Given the description of an element on the screen output the (x, y) to click on. 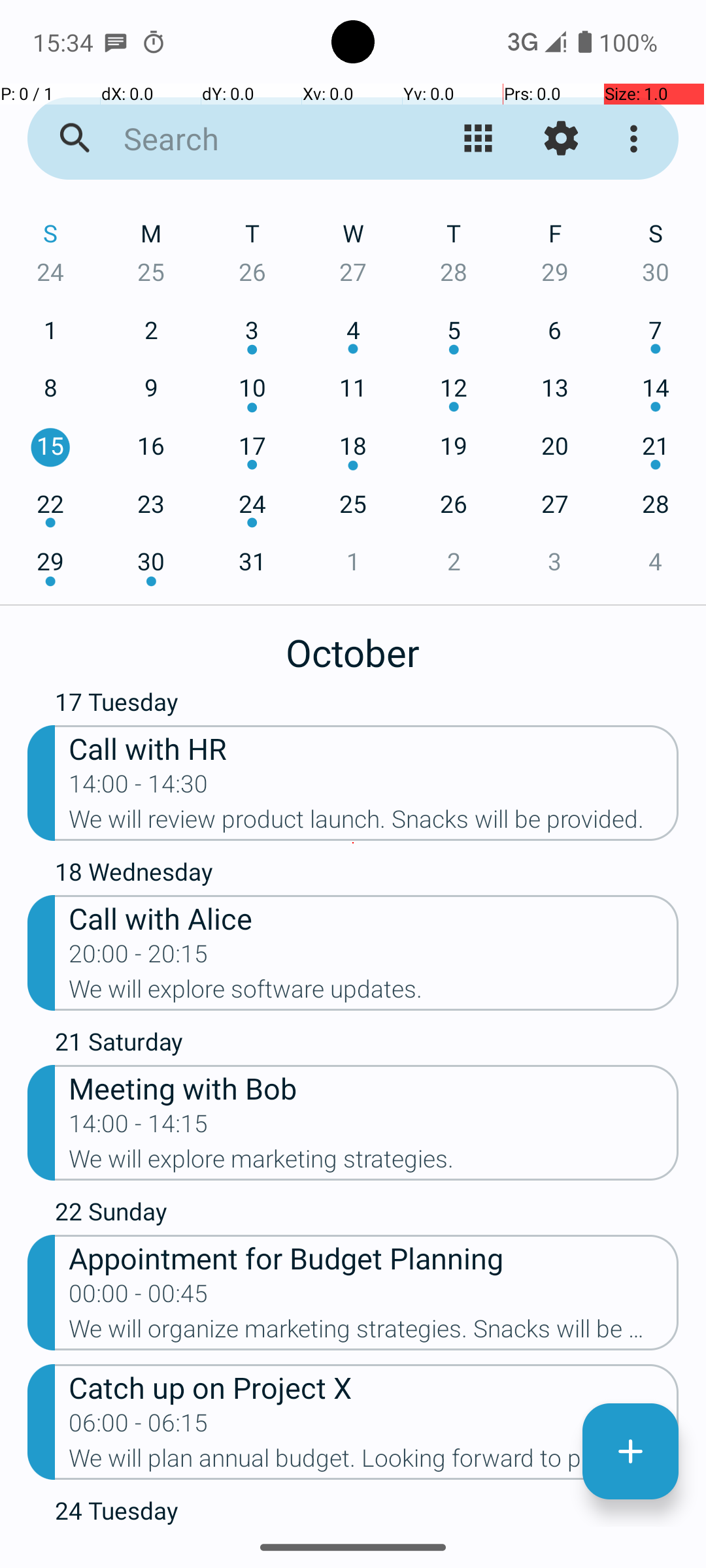
17 Tuesday Element type: android.widget.TextView (366, 704)
18 Wednesday Element type: android.widget.TextView (366, 874)
21 Saturday Element type: android.widget.TextView (366, 1044)
22 Sunday Element type: android.widget.TextView (366, 1214)
24 Tuesday Element type: android.widget.TextView (366, 1509)
Call with HR Element type: android.widget.TextView (373, 747)
14:00 - 14:30 Element type: android.widget.TextView (137, 787)
We will review product launch. Snacks will be provided. Element type: android.widget.TextView (373, 822)
Call with Alice Element type: android.widget.TextView (373, 917)
20:00 - 20:15 Element type: android.widget.TextView (137, 957)
We will explore software updates. Element type: android.widget.TextView (373, 992)
Meeting with Bob Element type: android.widget.TextView (373, 1087)
14:00 - 14:15 Element type: android.widget.TextView (137, 1127)
We will explore marketing strategies. Element type: android.widget.TextView (373, 1162)
Appointment for Budget Planning Element type: android.widget.TextView (373, 1256)
00:00 - 00:45 Element type: android.widget.TextView (137, 1297)
We will organize marketing strategies. Snacks will be provided. Element type: android.widget.TextView (373, 1332)
Catch up on Project X Element type: android.widget.TextView (373, 1386)
06:00 - 06:15 Element type: android.widget.TextView (137, 1426)
We will plan annual budget. Looking forward to productive discussions. Element type: android.widget.TextView (373, 1461)
